Given the description of an element on the screen output the (x, y) to click on. 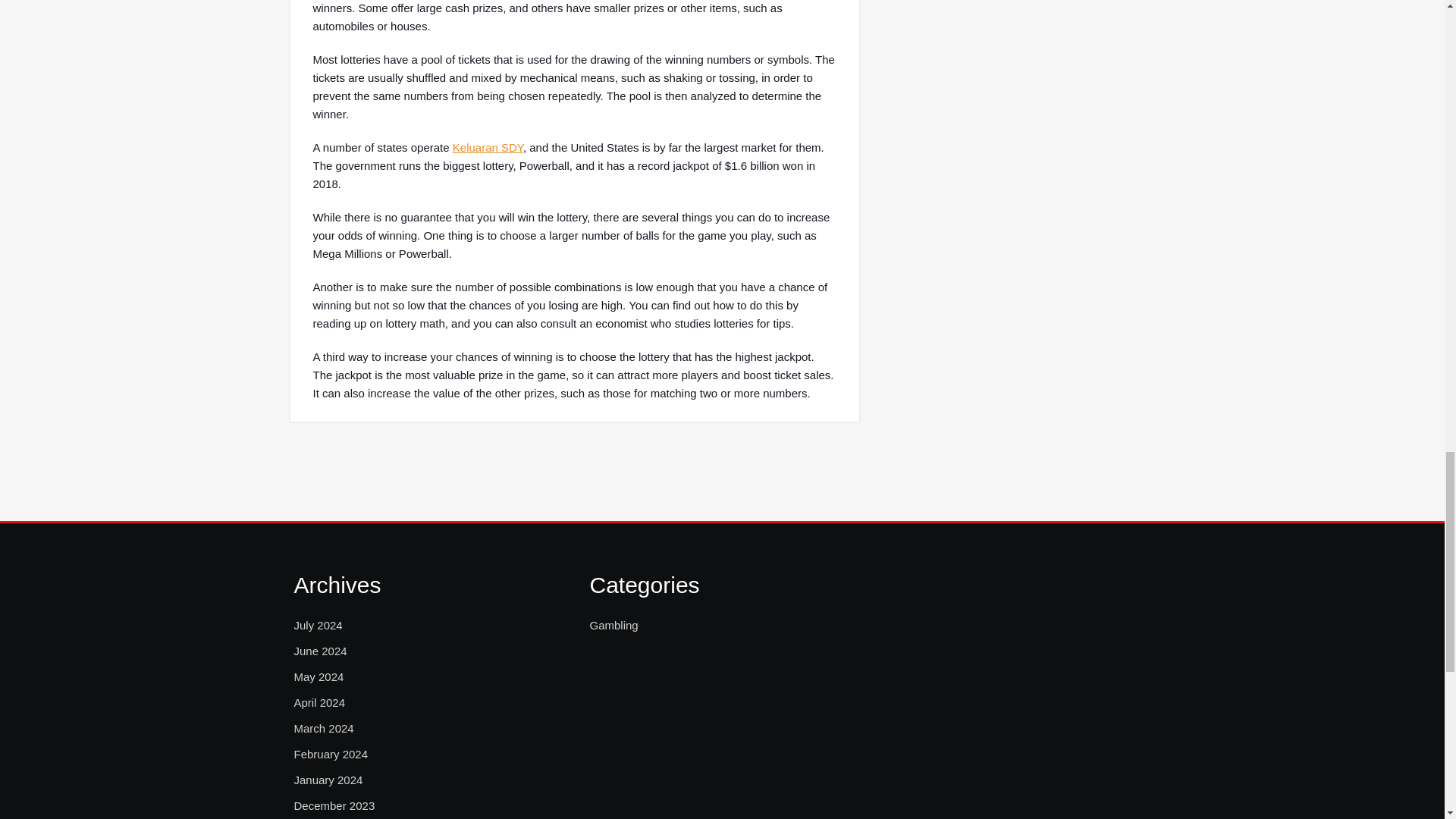
Keluaran SDY (487, 146)
June 2024 (320, 651)
March 2024 (323, 728)
July 2024 (318, 625)
February 2024 (331, 754)
April 2024 (320, 702)
May 2024 (318, 677)
January 2024 (328, 780)
December 2023 (334, 805)
